Given the description of an element on the screen output the (x, y) to click on. 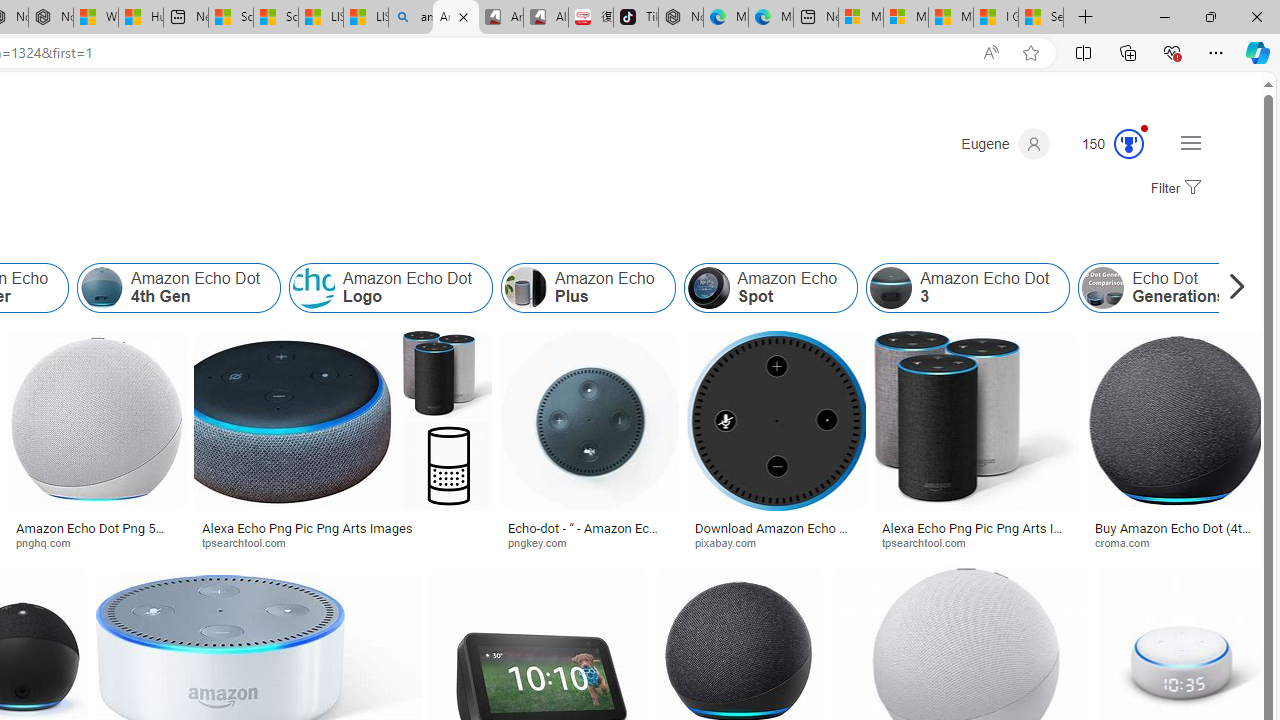
pixabay.com (732, 541)
pixabay.com (776, 542)
croma.com (1176, 542)
